Given the description of an element on the screen output the (x, y) to click on. 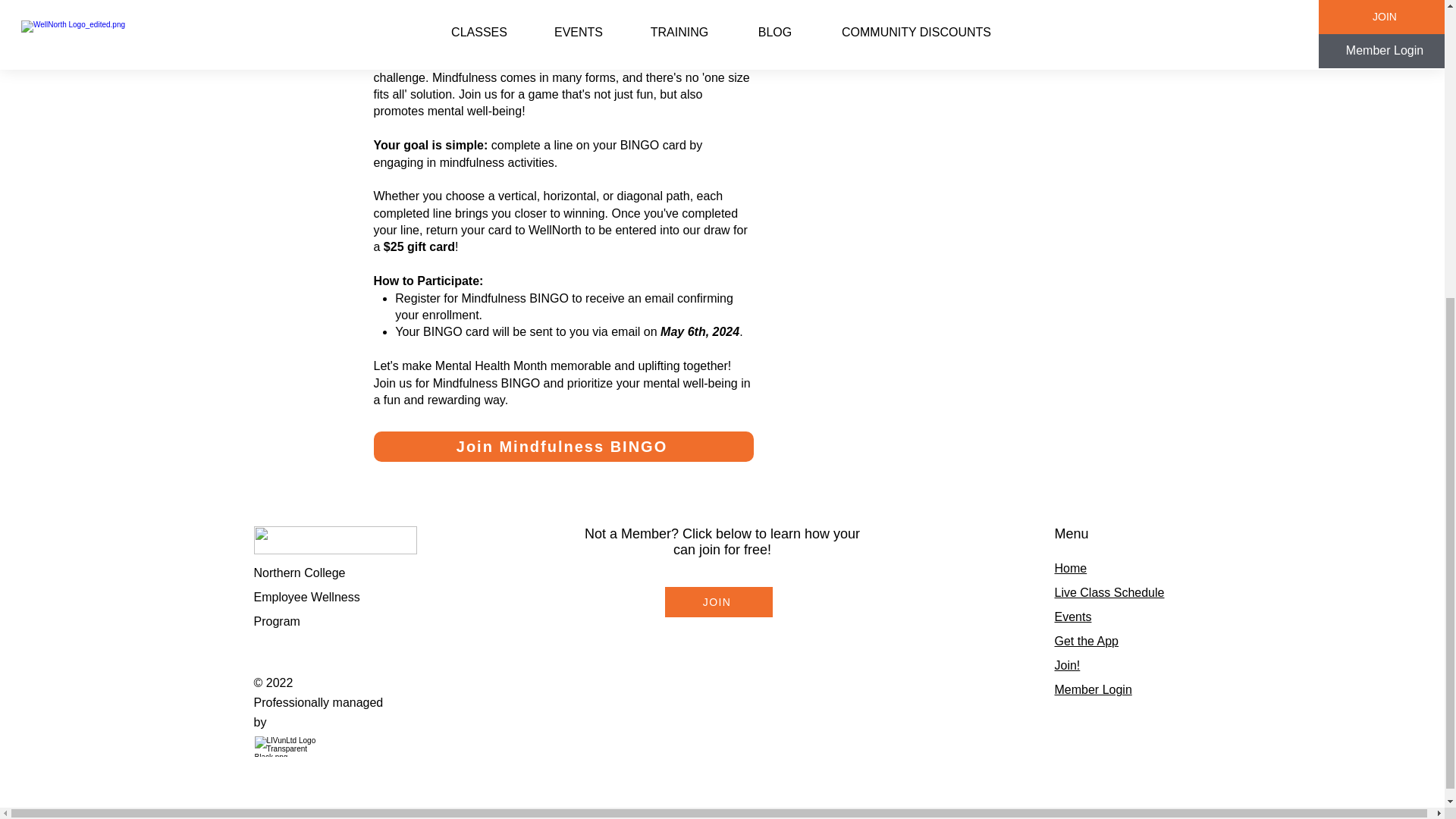
JOIN (717, 602)
Events (1072, 616)
Member Login (1092, 689)
Home (1070, 567)
Get the App (1086, 640)
Join Mindfulness BINGO (562, 446)
Live Class Schedule (1108, 592)
Join! (1067, 665)
